Given the description of an element on the screen output the (x, y) to click on. 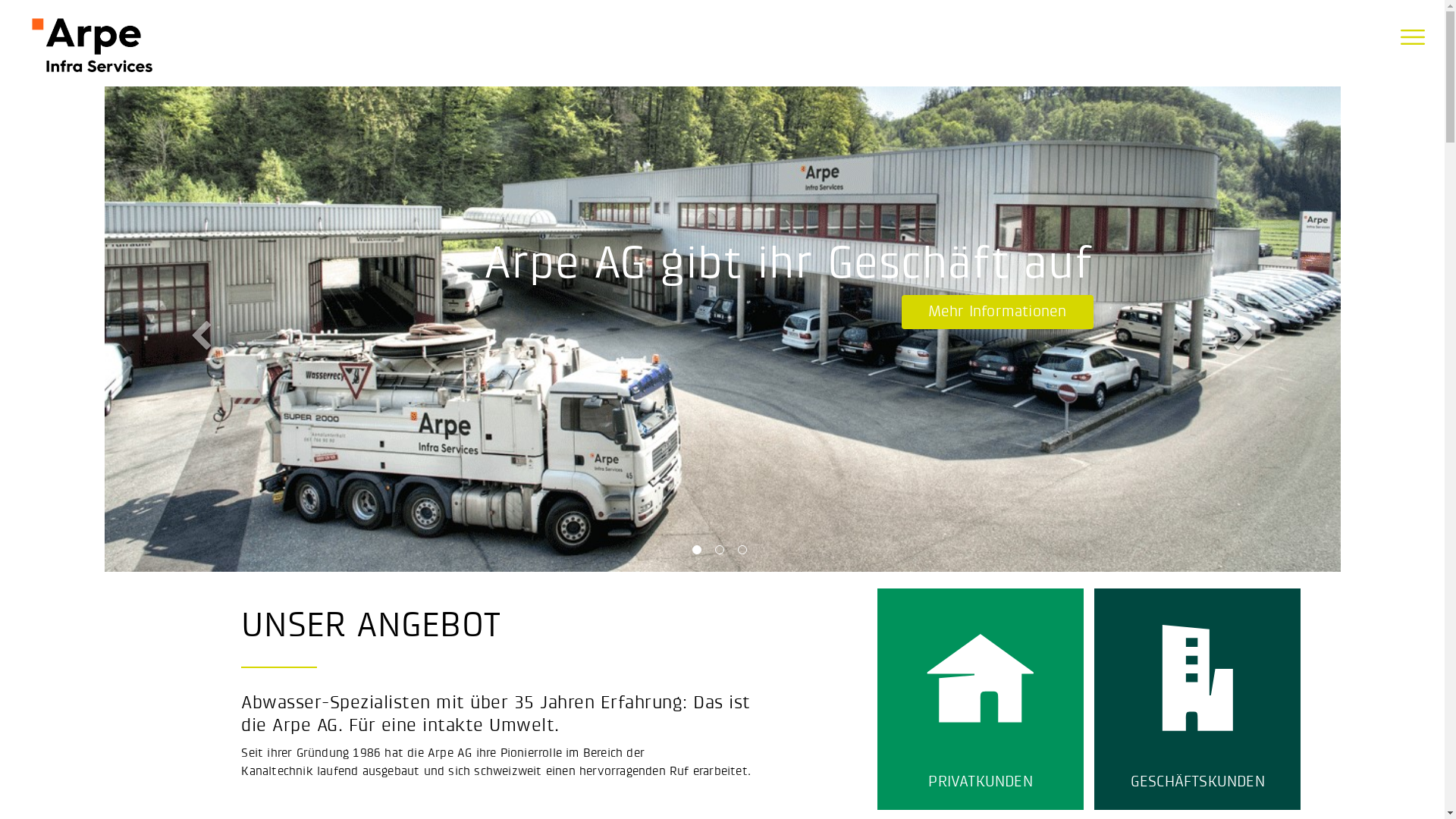
1 Element type: text (698, 552)
3 Element type: text (744, 552)
2 Element type: text (721, 552)
